Given the description of an element on the screen output the (x, y) to click on. 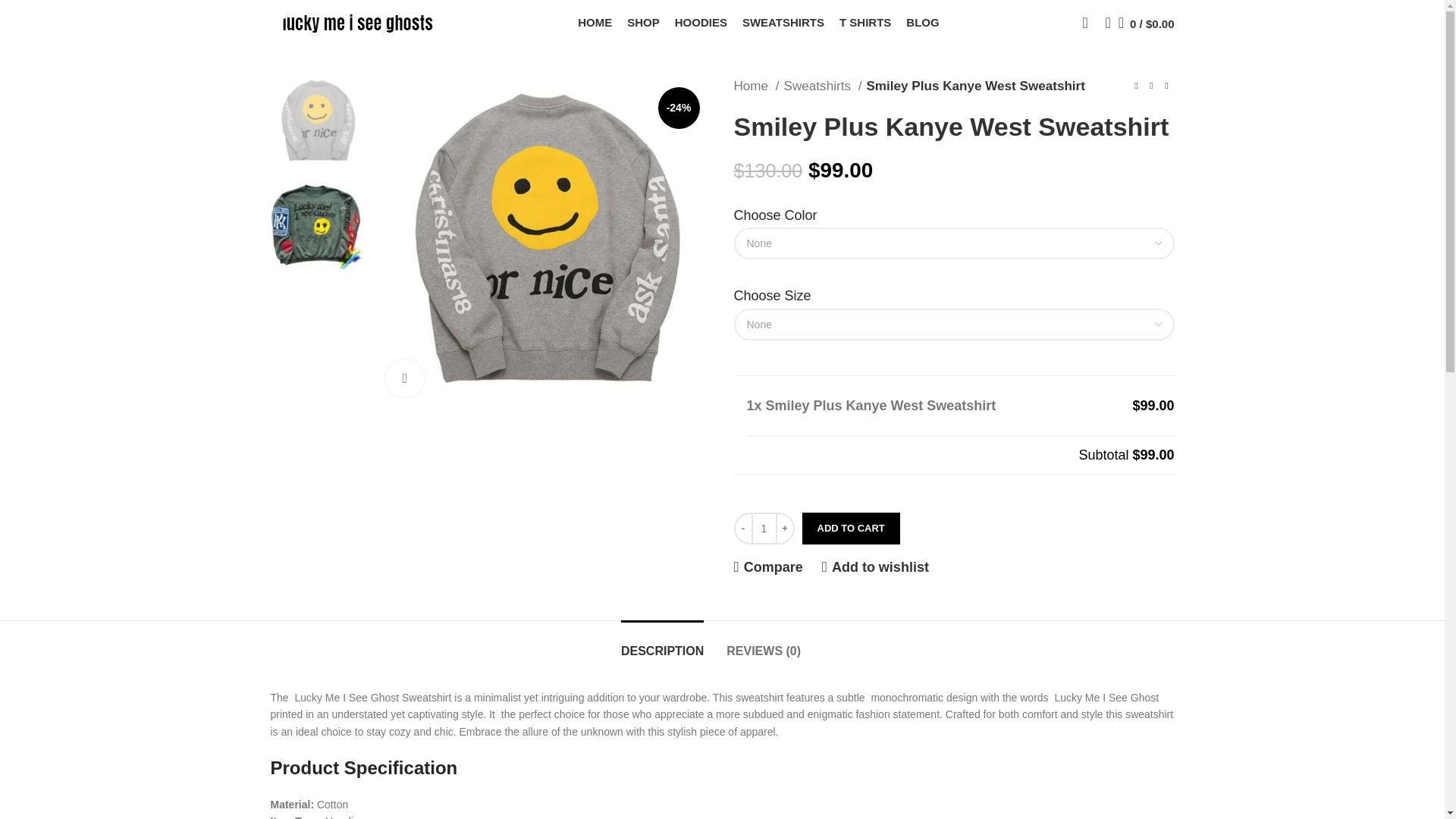
SHOP (643, 22)
Sweatshirts (822, 86)
Shopping cart (1146, 22)
ADD TO CART (850, 528)
Compare (768, 566)
HOODIES (700, 22)
Home (755, 86)
DESCRIPTION (662, 642)
Add to wishlist (875, 566)
Smiley Plus Kanye West Sweatshirt (542, 242)
Log in (962, 264)
T SHIRTS (865, 22)
HOME (594, 22)
BLOG (922, 22)
SWEATSHIRTS (783, 22)
